Given the description of an element on the screen output the (x, y) to click on. 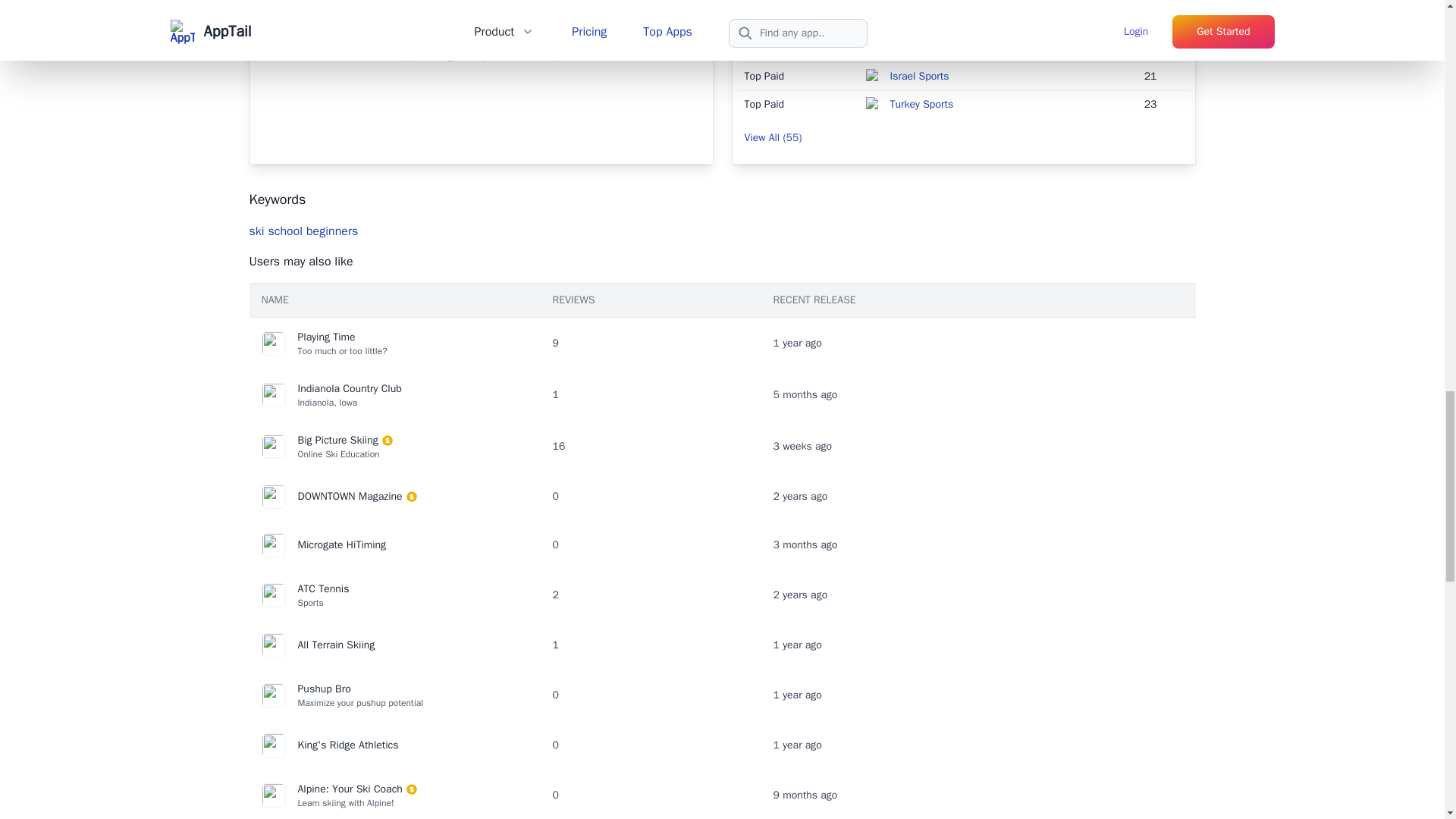
Israel Sports (919, 75)
All Terrain Skiing (393, 645)
Turkey Sports (921, 103)
Greece Sports (393, 595)
ski school beginners (922, 19)
Romania Sports (303, 231)
